Given the description of an element on the screen output the (x, y) to click on. 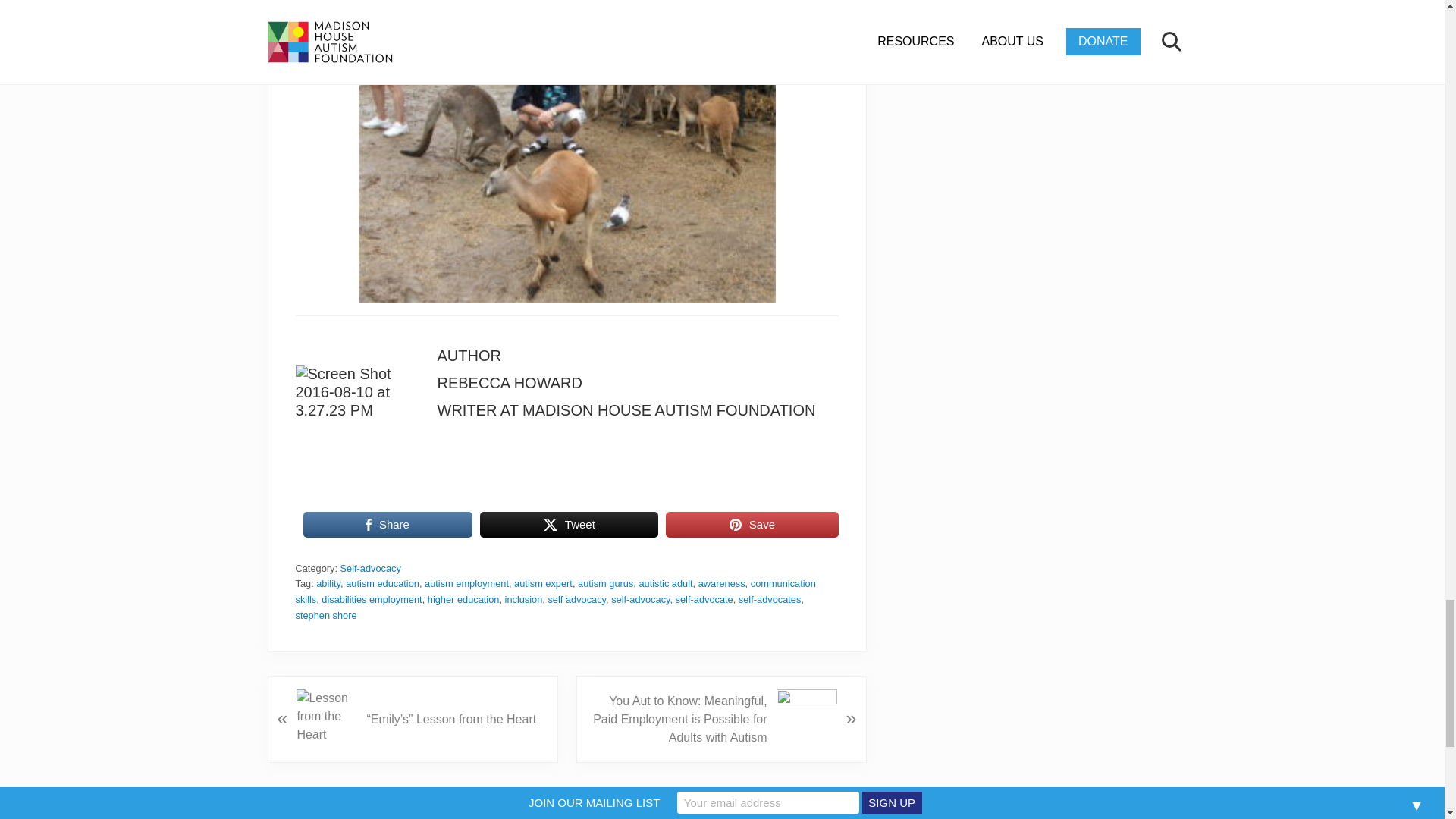
Tweet (569, 524)
Share (387, 524)
Save (751, 524)
Self-advocacy (370, 568)
